Given the description of an element on the screen output the (x, y) to click on. 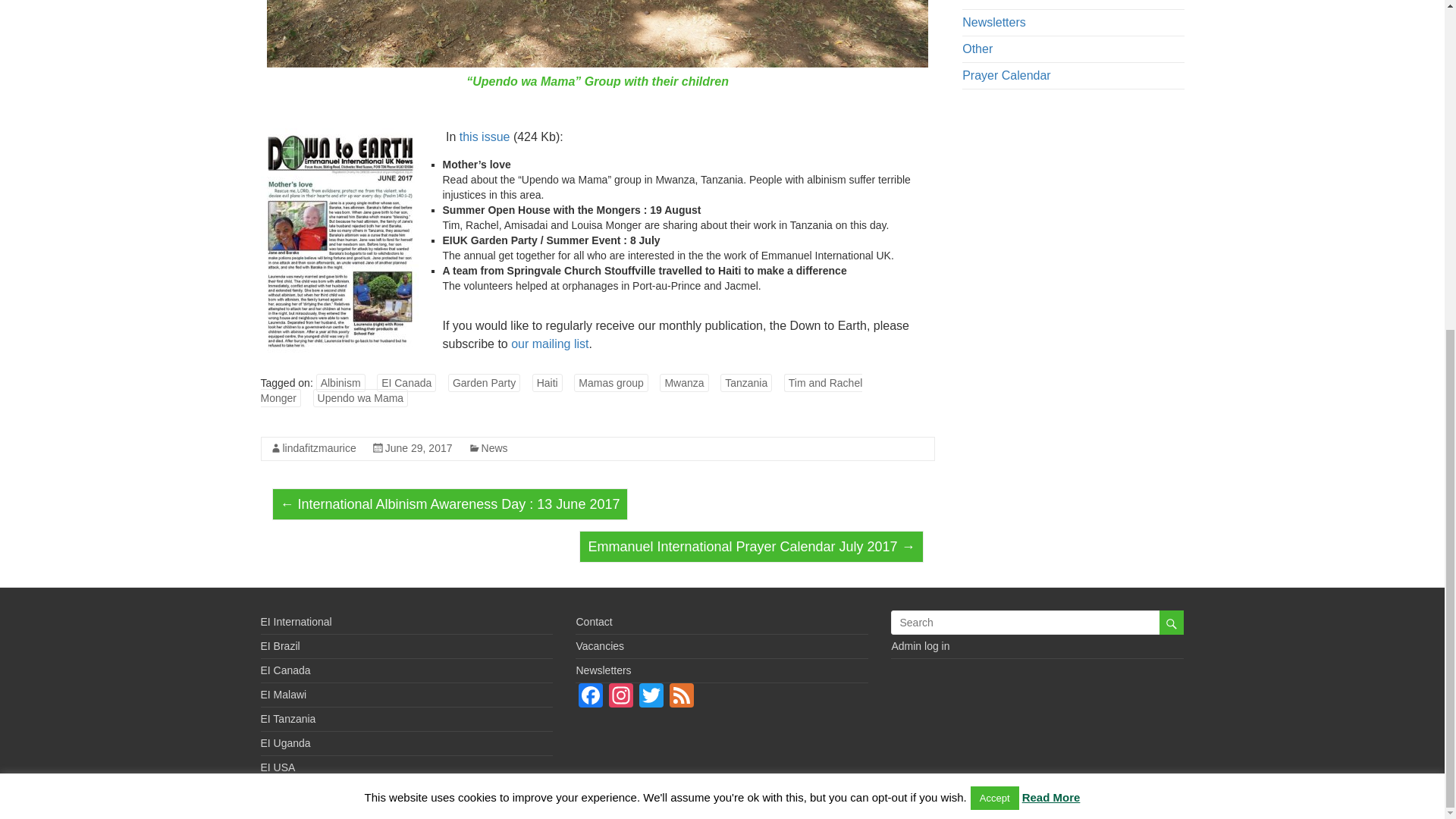
Haiti (547, 382)
isaaccarr.co.uk (520, 801)
Facebook (590, 697)
Tim and Rachel Monger (561, 390)
Instagram (620, 697)
7:49 am (418, 448)
Tanzania (745, 382)
RSS Feed (681, 697)
lindafitzmaurice (318, 448)
our mailing list (549, 343)
News (494, 448)
Mamas group (610, 382)
EI Canada (406, 382)
Albinism (340, 382)
Twitter (651, 697)
